Given the description of an element on the screen output the (x, y) to click on. 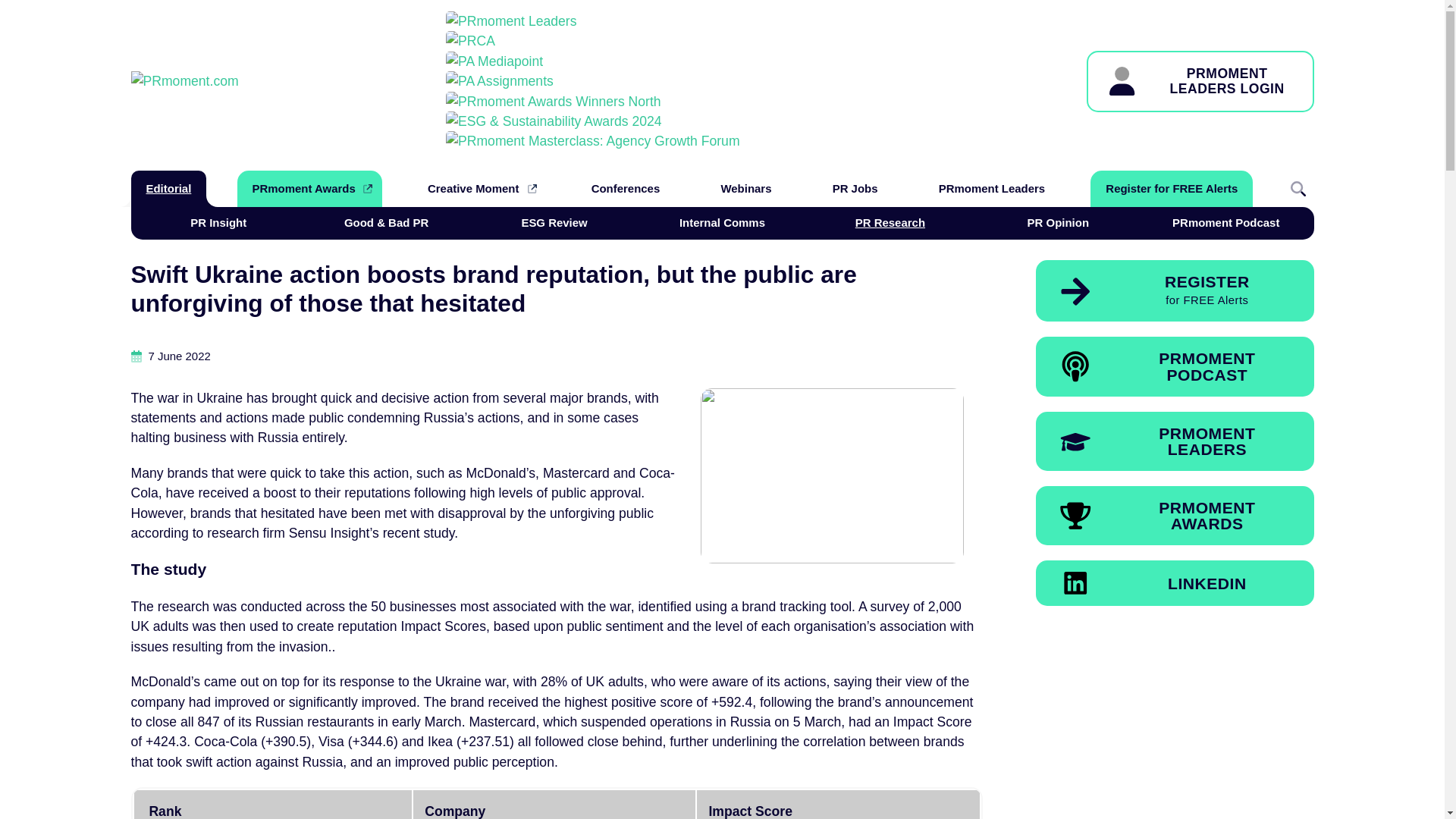
Webinars (745, 188)
Conferences (625, 188)
PRmoment Leaders (1174, 440)
ESG Review (1174, 365)
Register for FREE Alerts (991, 188)
PR Opinion (1199, 80)
PR Research (553, 222)
Editorial (1171, 188)
PRmoment Podcast (1057, 222)
Search (889, 222)
